Given the description of an element on the screen output the (x, y) to click on. 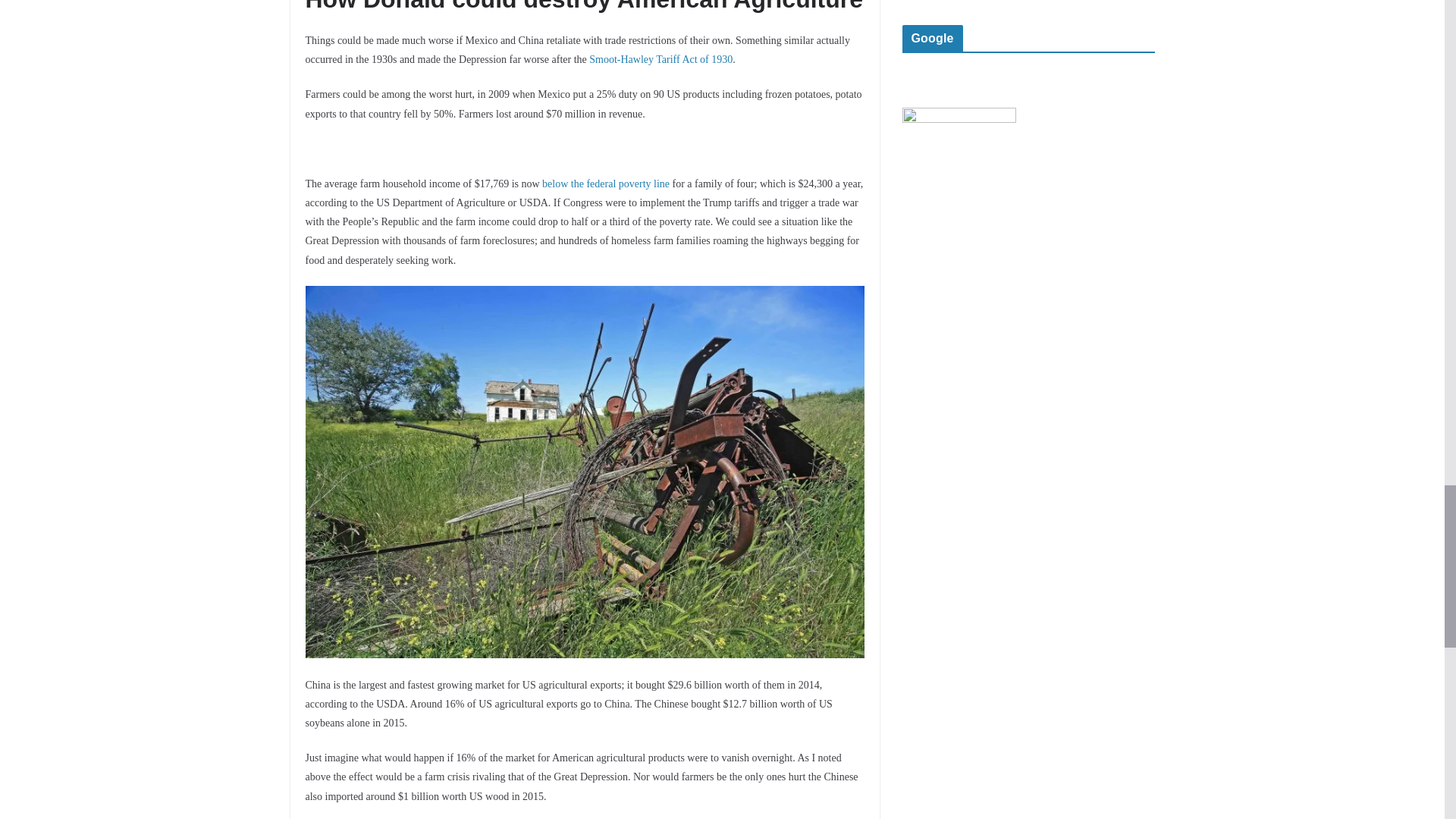
below the federal poverty line (605, 183)
Smoot-Hawley Tariff Act of 1930 (660, 59)
